Given the description of an element on the screen output the (x, y) to click on. 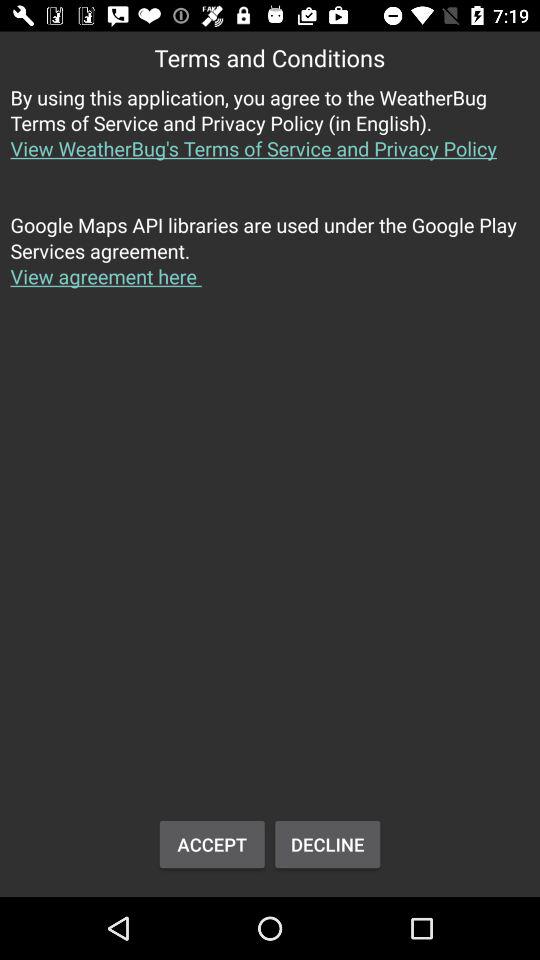
tap the item below the google maps api icon (212, 844)
